Given the description of an element on the screen output the (x, y) to click on. 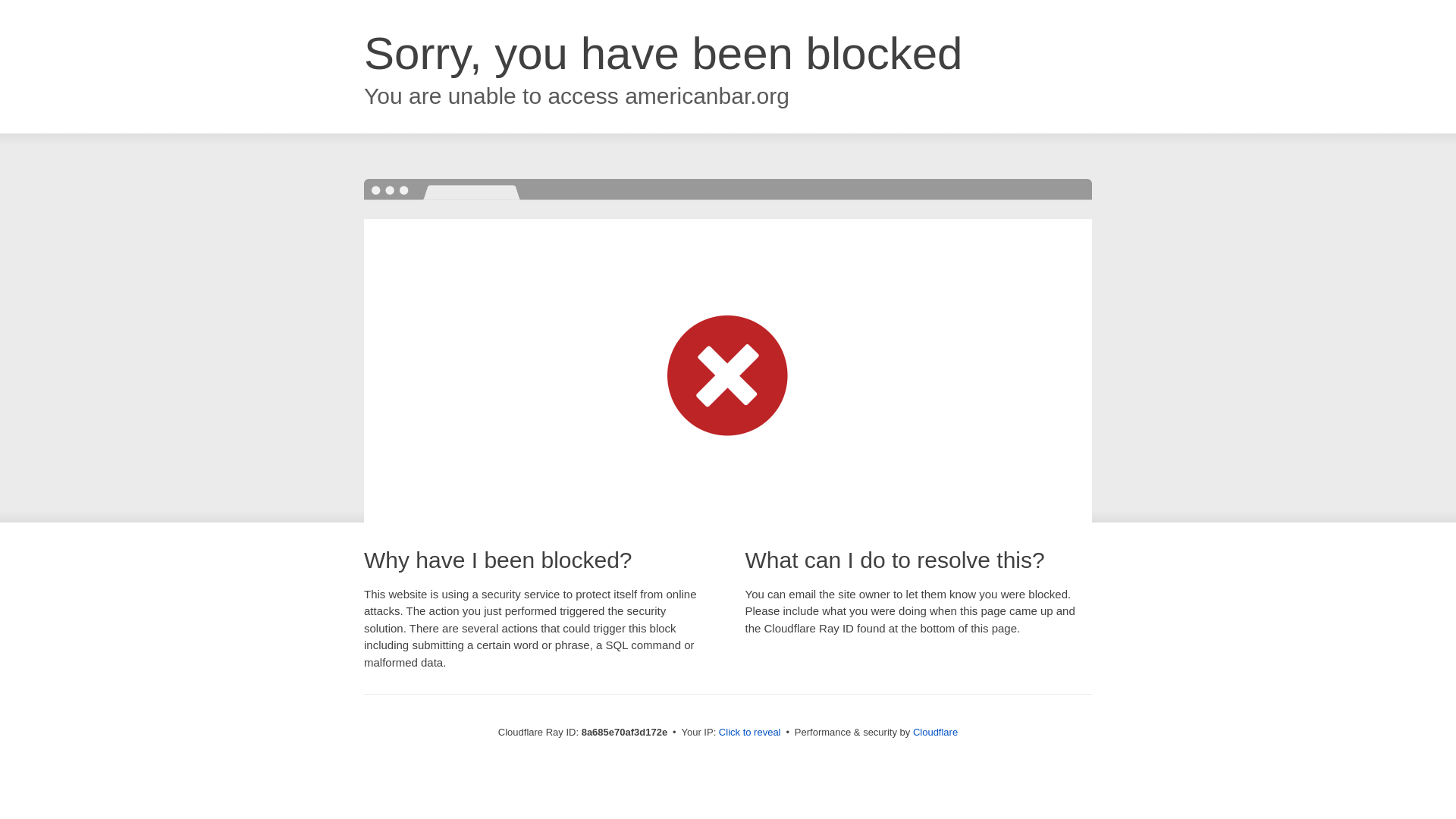
Cloudflare (935, 731)
Click to reveal (749, 732)
